Given the description of an element on the screen output the (x, y) to click on. 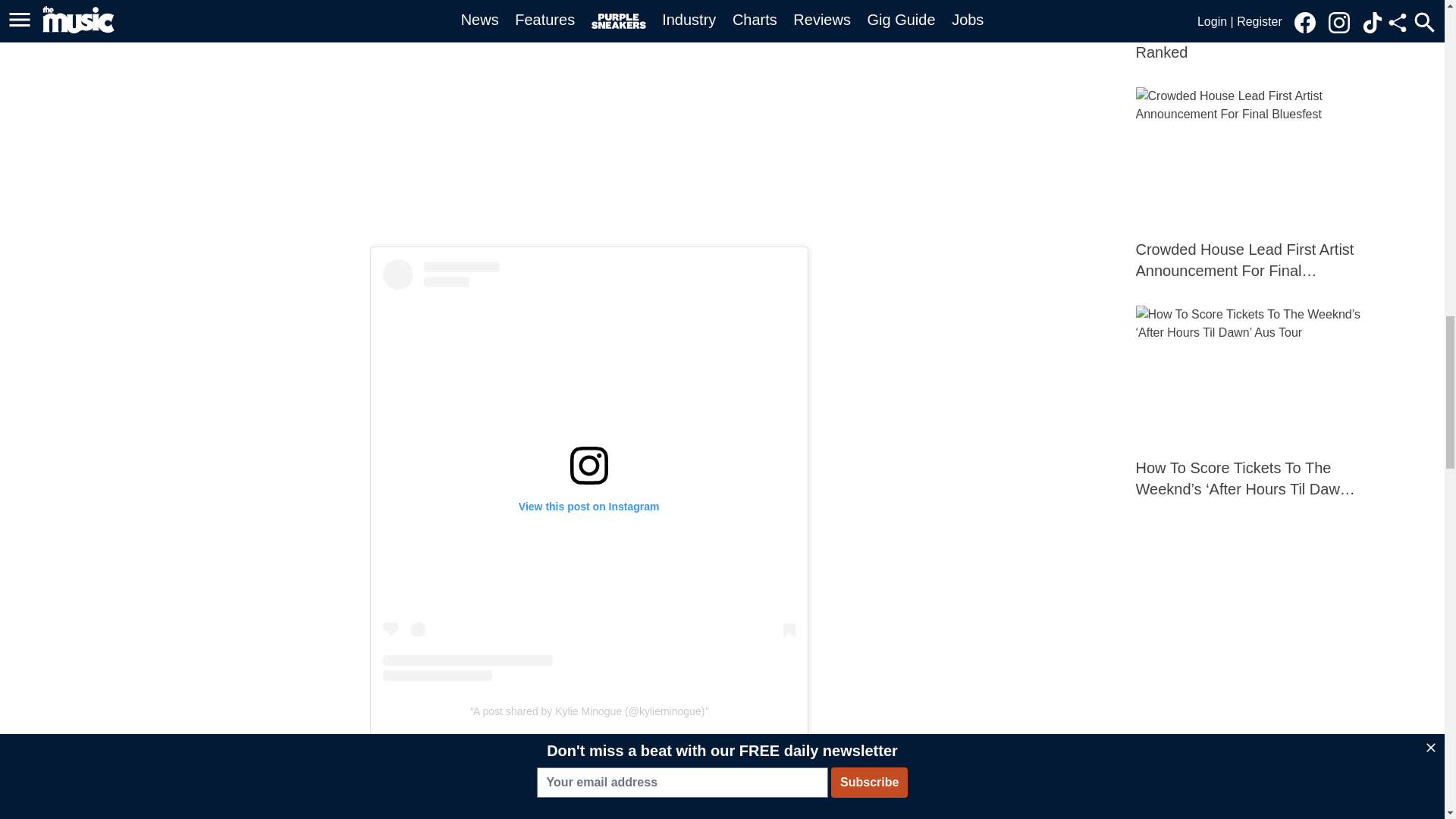
struck back at critics (550, 757)
Grinspoon's Top Ten Songs Ranked (1248, 31)
